Given the description of an element on the screen output the (x, y) to click on. 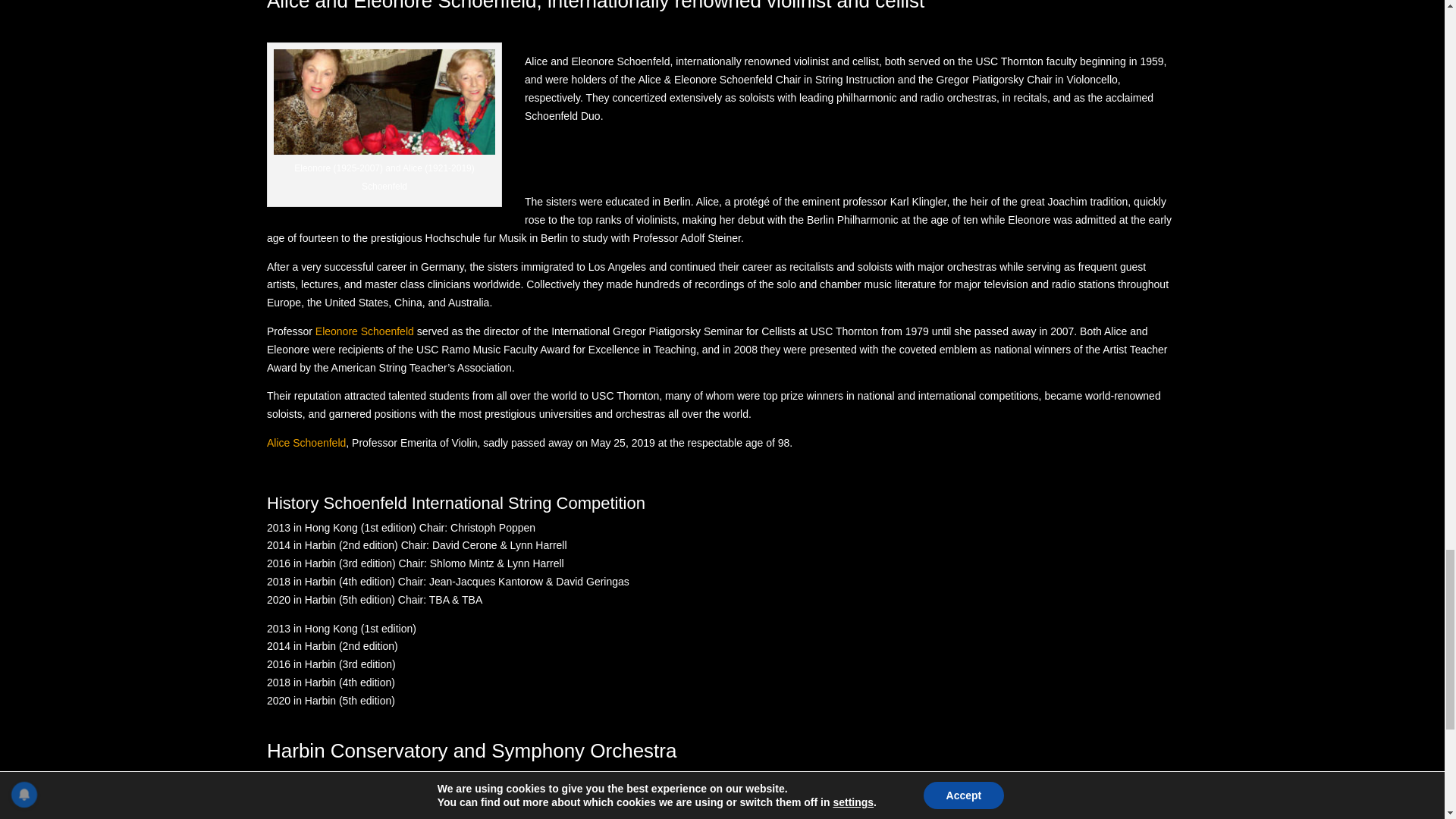
Eleonore Schoenfeld (364, 331)
